Given the description of an element on the screen output the (x, y) to click on. 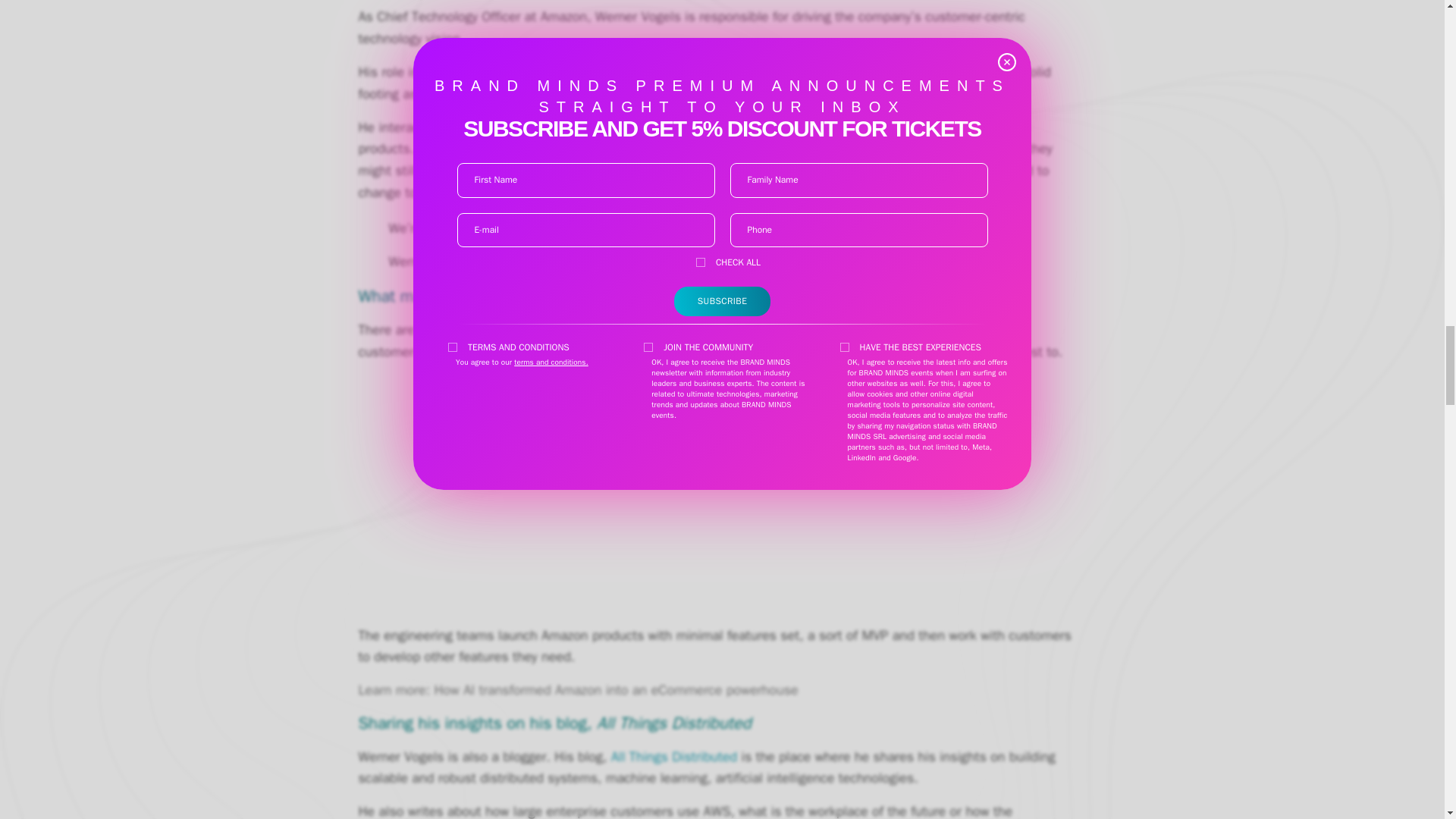
All Things Distributed (673, 756)
How AI transformed Amazon into an eCommerce powerhouse (615, 689)
